Given the description of an element on the screen output the (x, y) to click on. 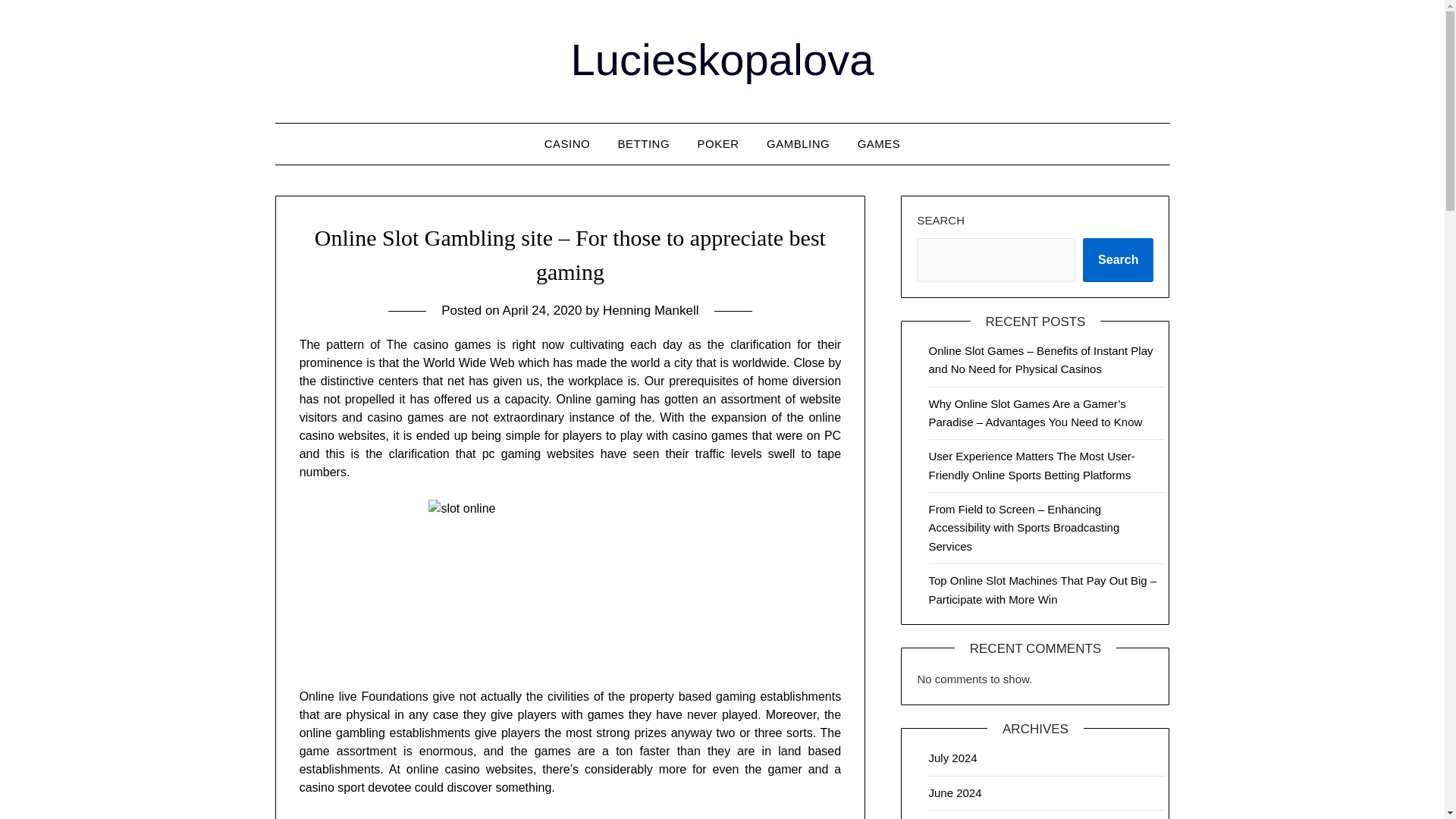
Search (1118, 259)
GAMES (878, 143)
BETTING (643, 143)
April 24, 2020 (542, 310)
Lucieskopalova (722, 59)
June 2024 (954, 792)
GAMBLING (797, 143)
CASINO (567, 143)
Henning Mankell (650, 310)
July 2024 (952, 757)
POKER (718, 143)
